Given the description of an element on the screen output the (x, y) to click on. 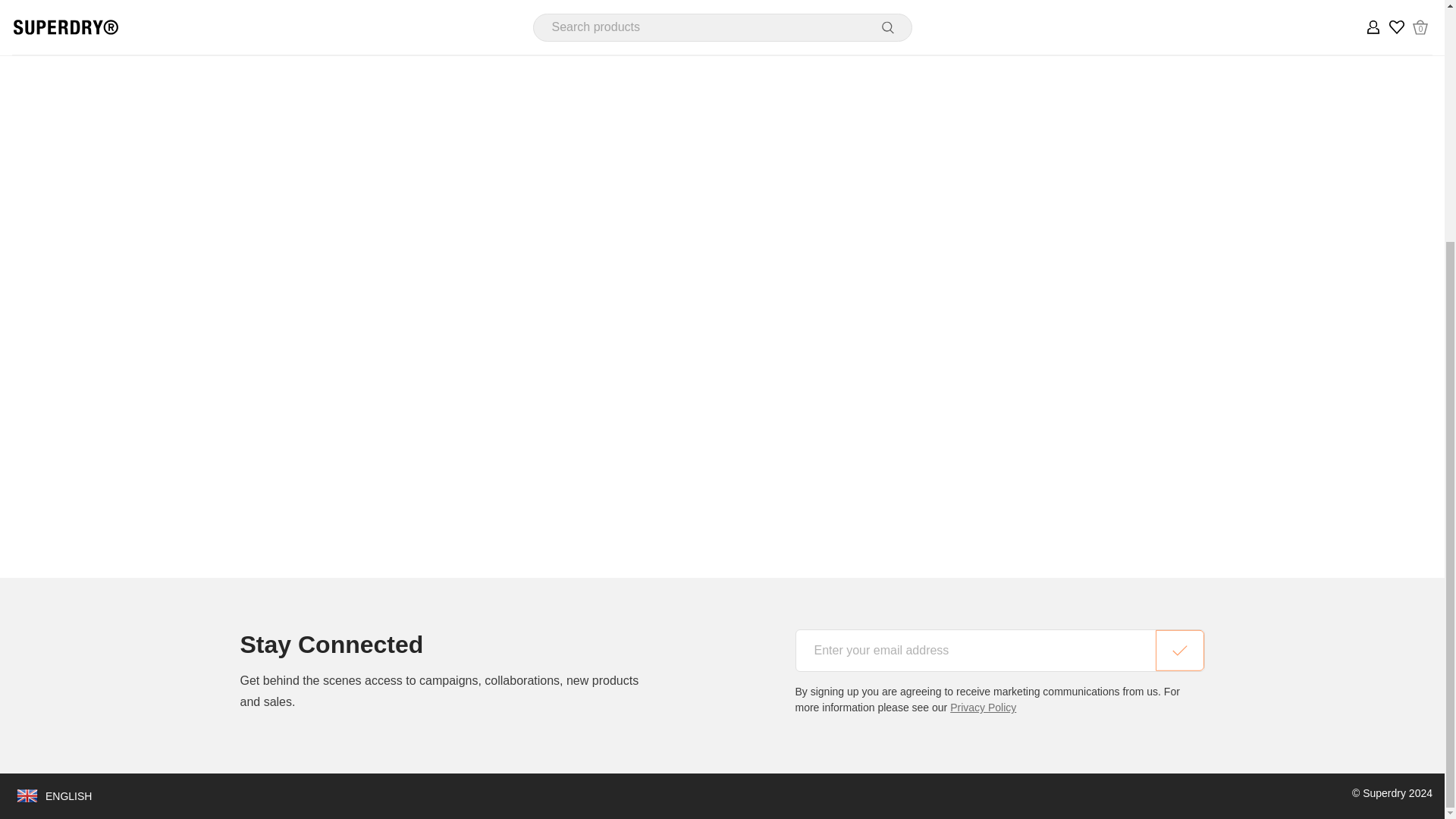
Tick (1180, 650)
ENGLISH (53, 795)
Privacy Policy (983, 707)
